Given the description of an element on the screen output the (x, y) to click on. 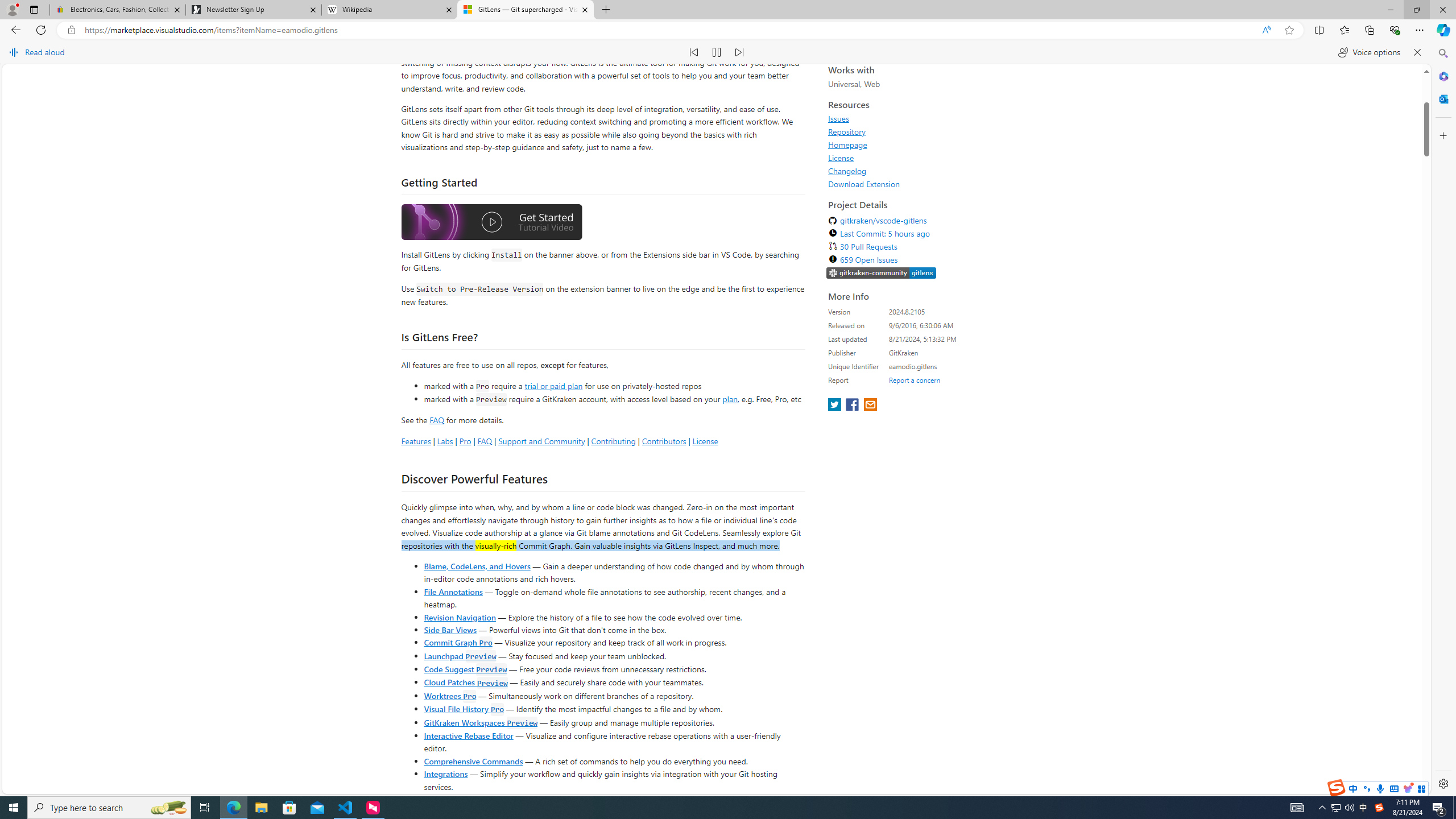
Close read aloud (1417, 52)
Pause read aloud (Ctrl+Shift+U) (716, 52)
File Annotations (453, 777)
License (931, 344)
Contributors (663, 627)
Read previous paragraph (693, 52)
